Given the description of an element on the screen output the (x, y) to click on. 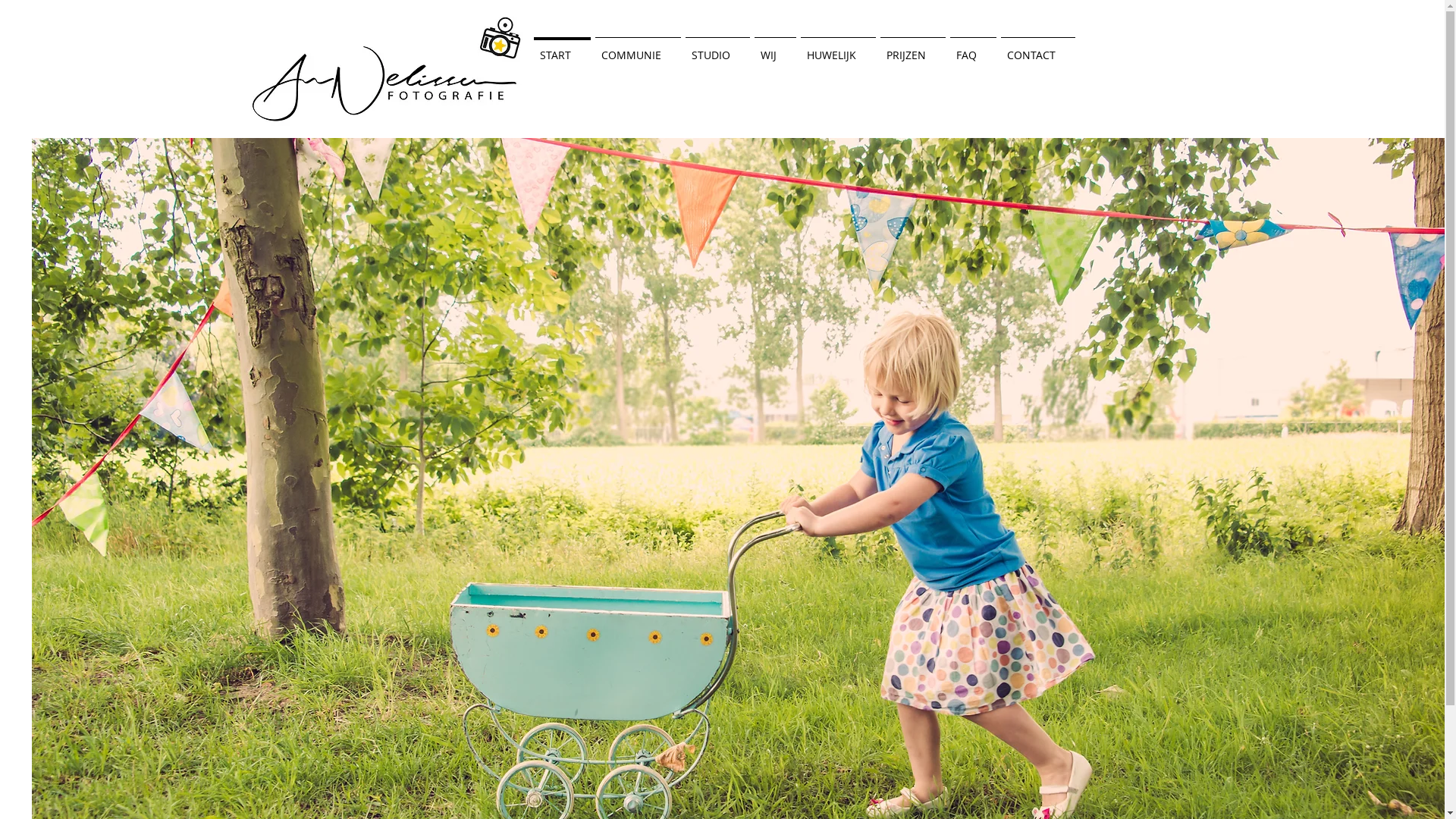
PRIJZEN Element type: text (912, 48)
HUWELIJK Element type: text (837, 48)
WIJ Element type: text (775, 48)
START Element type: text (561, 48)
logo.jpg Element type: hover (386, 67)
CONTACT Element type: text (1036, 48)
COMMUNIE Element type: text (638, 48)
AN NELISSEN Element type: text (421, 36)
FOTOGRAFIE Element type: text (445, 56)
FAQ Element type: text (972, 48)
STUDIO Element type: text (716, 48)
